Given the description of an element on the screen output the (x, y) to click on. 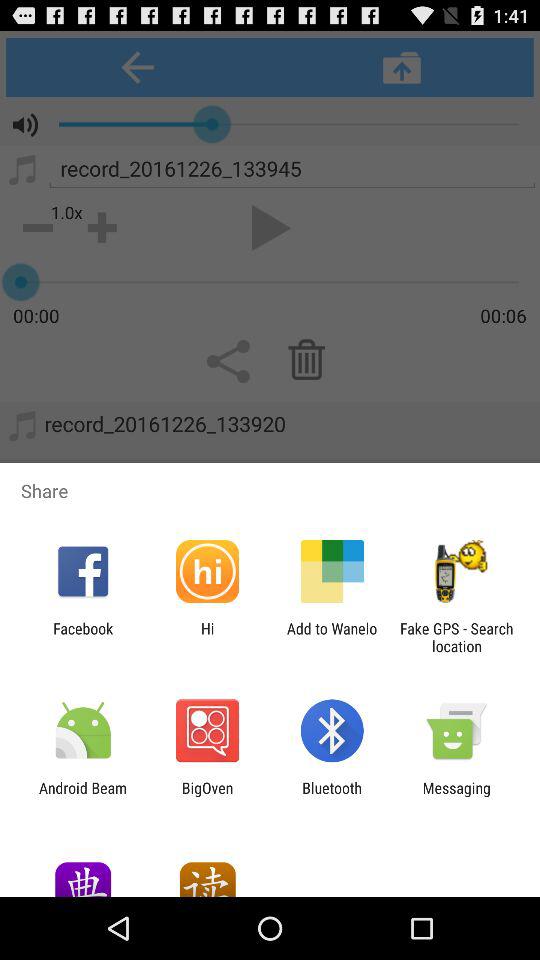
jump until bluetooth (331, 796)
